Given the description of an element on the screen output the (x, y) to click on. 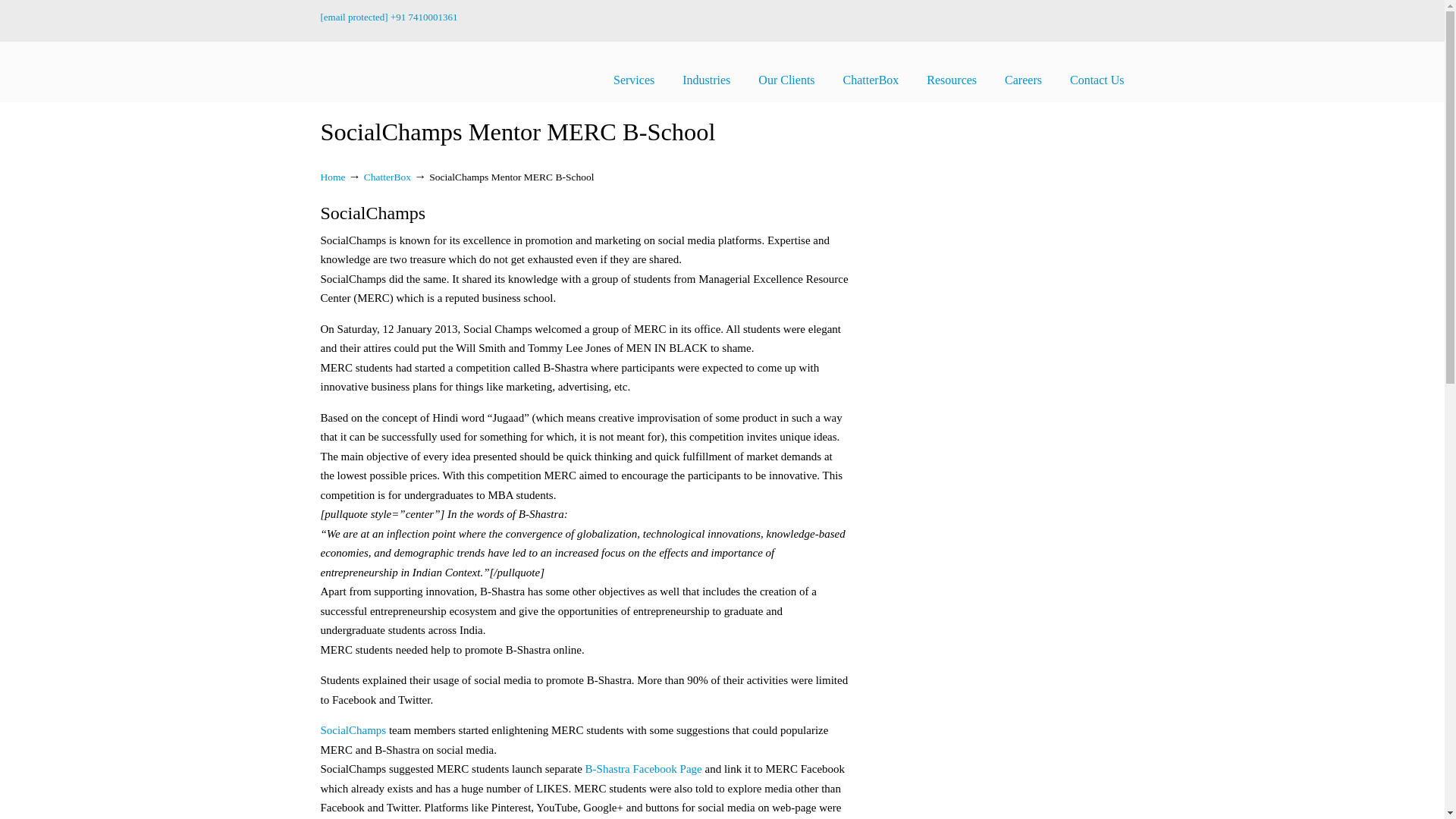
Facebook (954, 25)
 Email Us (353, 16)
LinkedIn (1002, 25)
Twitter (978, 25)
 HR (424, 16)
Resources (951, 79)
Careers (1023, 79)
Our Clients (785, 79)
ChatterBox (871, 79)
SocialChamps (377, 71)
Services (633, 79)
Industries (705, 79)
Pinterest (1026, 25)
YouTube (1050, 25)
SocialChamps (377, 71)
